Given the description of an element on the screen output the (x, y) to click on. 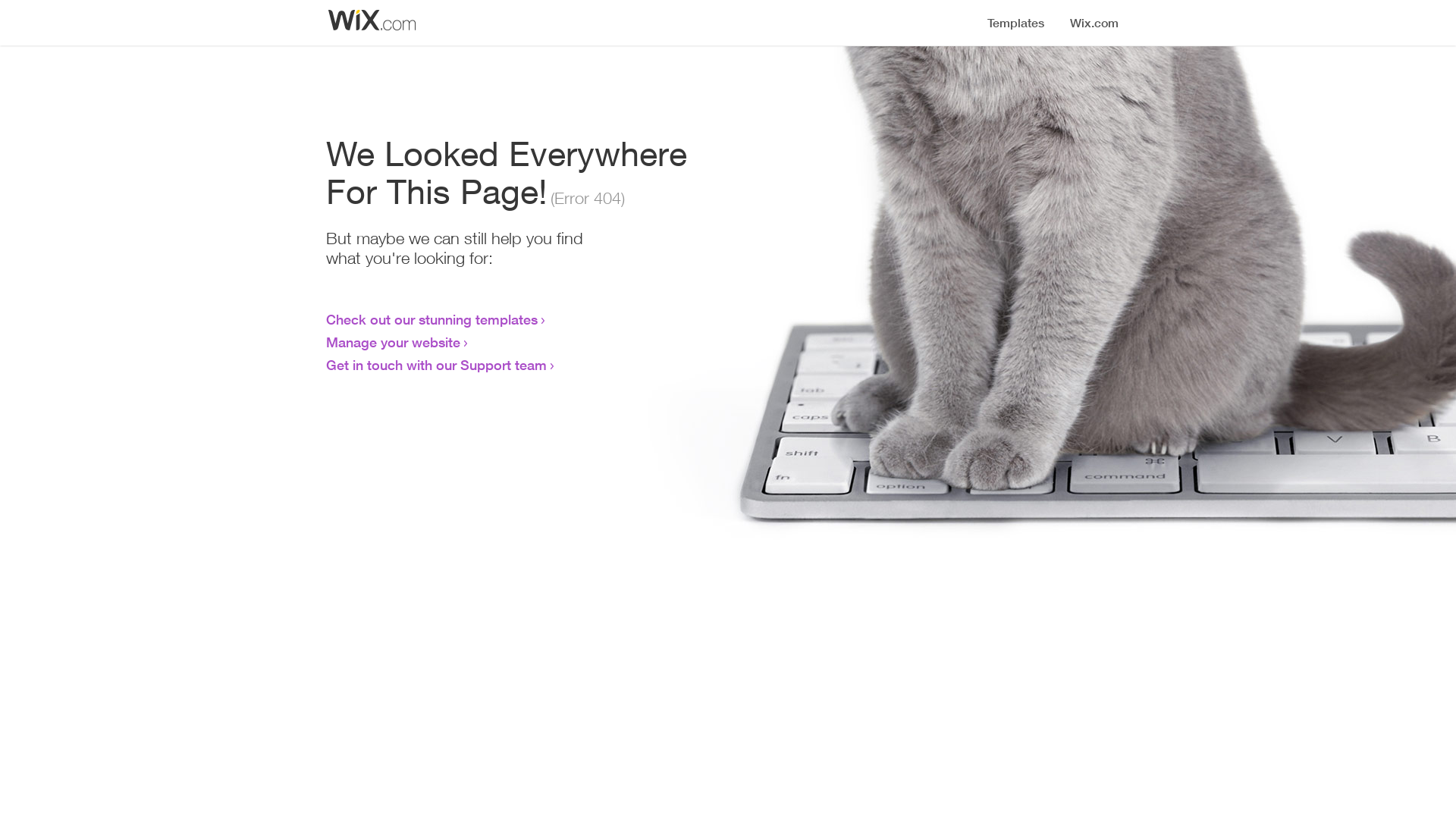
Manage your website Element type: text (393, 341)
Check out our stunning templates Element type: text (431, 318)
Get in touch with our Support team Element type: text (436, 364)
